Given the description of an element on the screen output the (x, y) to click on. 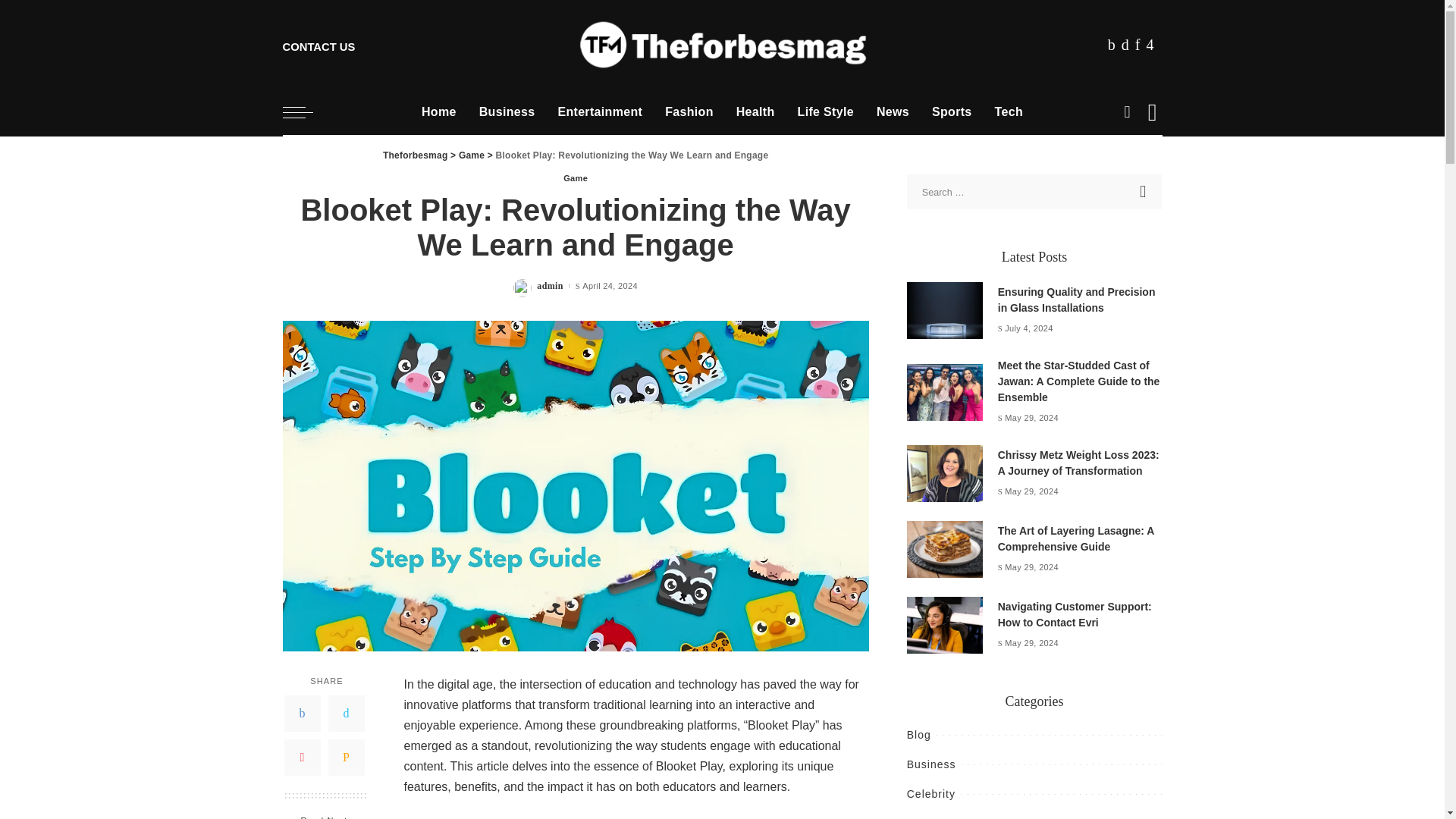
Search (1143, 191)
Fashion (689, 112)
Home (438, 112)
Life Style (825, 112)
Health (755, 112)
Search (1143, 191)
CONTACT US (318, 44)
Business (507, 112)
Entertainment (599, 112)
Theforbesmag (722, 44)
